Given the description of an element on the screen output the (x, y) to click on. 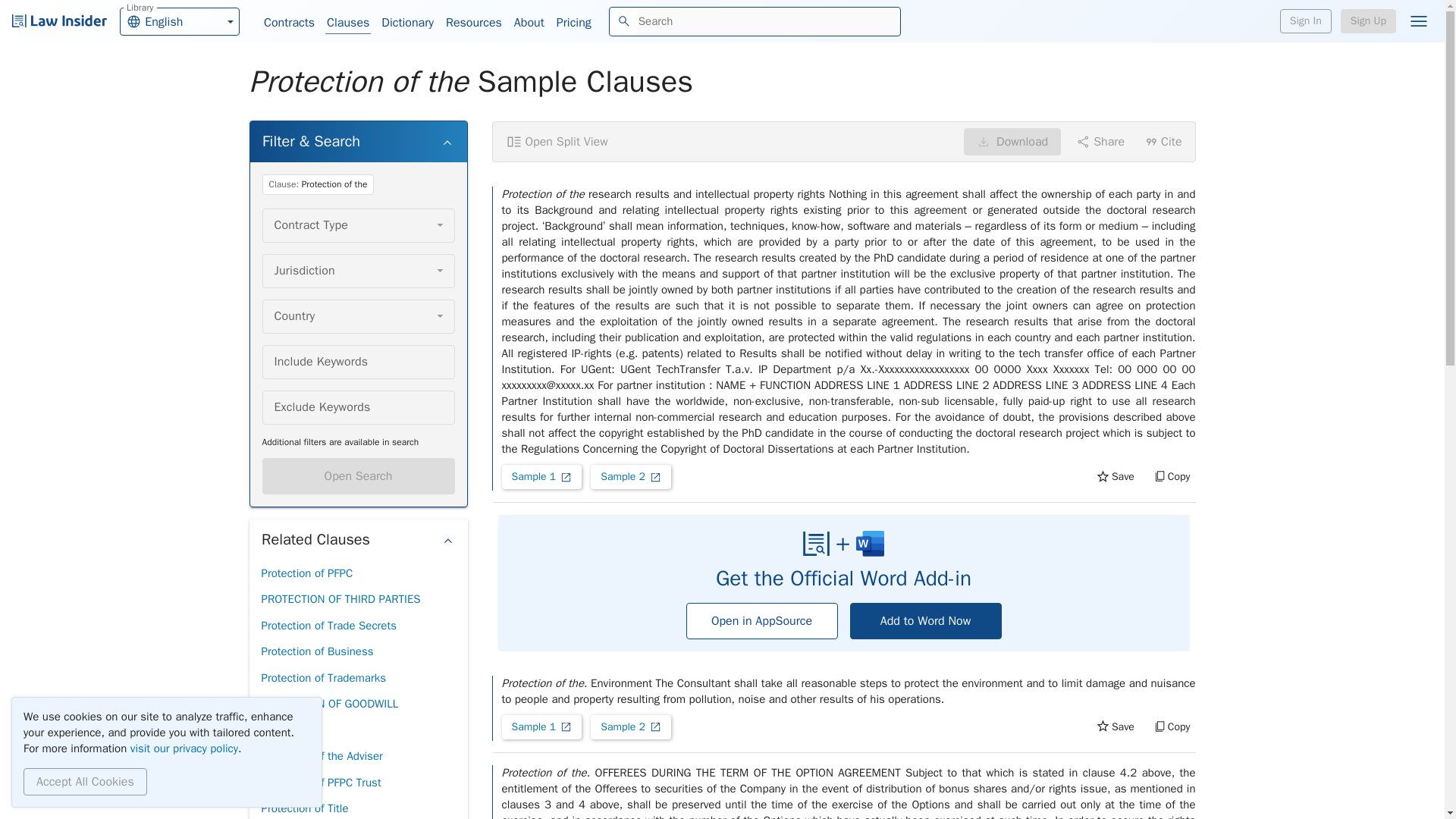
Contracts (288, 23)
Dictionary (407, 23)
Protection of PFPC Trust (320, 782)
Protection of Trade Secrets (328, 625)
visit our privacy policy (184, 748)
Pricing (573, 23)
Resources (473, 23)
PROTECTION OF THIRD PARTIES (340, 599)
Protection of Trademarks (322, 678)
Protection of the Adviser (320, 755)
